Given the description of an element on the screen output the (x, y) to click on. 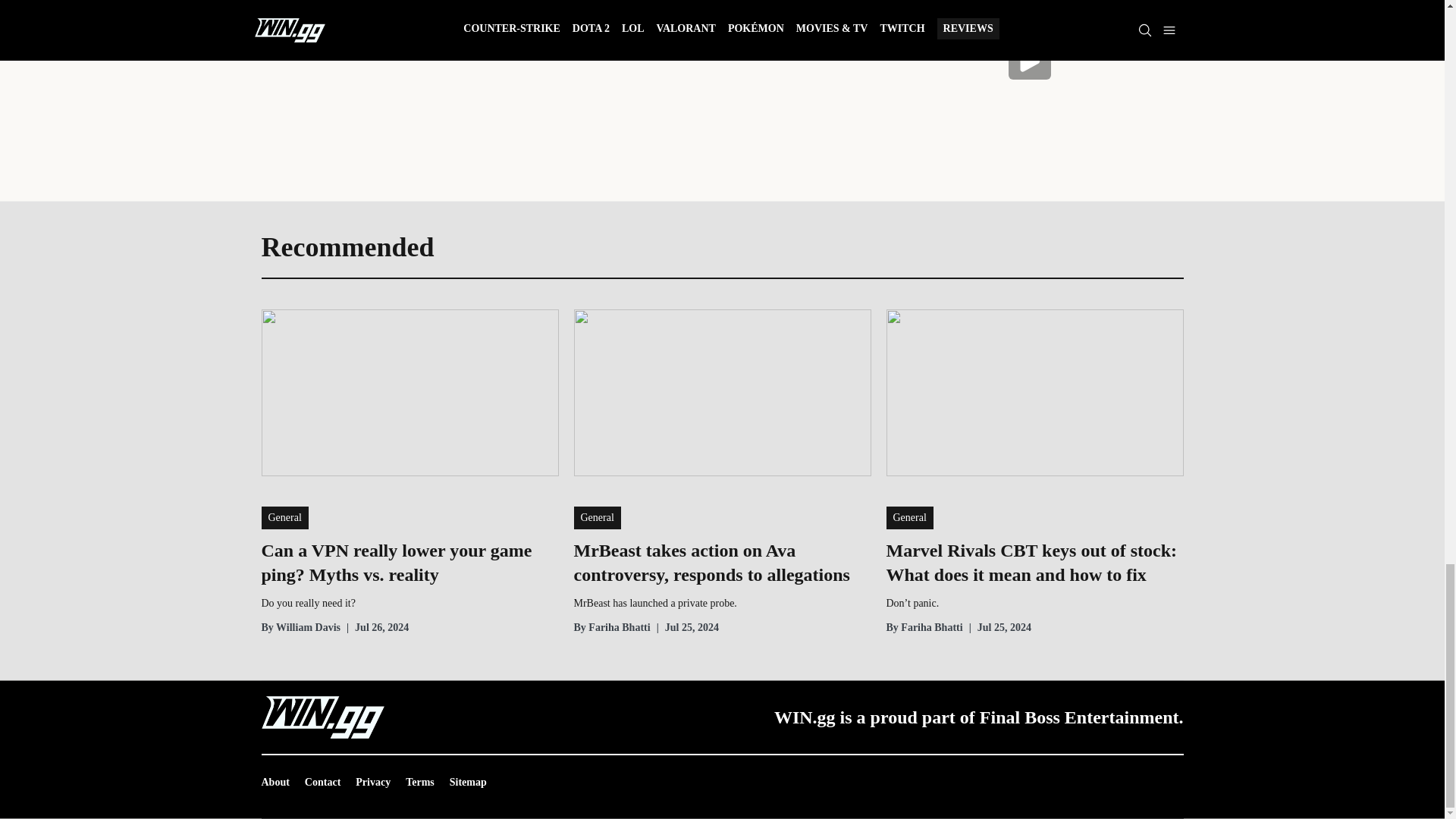
Can a VPN really lower your game ping? Myths vs. reality (408, 562)
General (596, 517)
By Fariha Bhatti (611, 627)
General (283, 517)
General (909, 517)
By William Davis (300, 627)
